Given the description of an element on the screen output the (x, y) to click on. 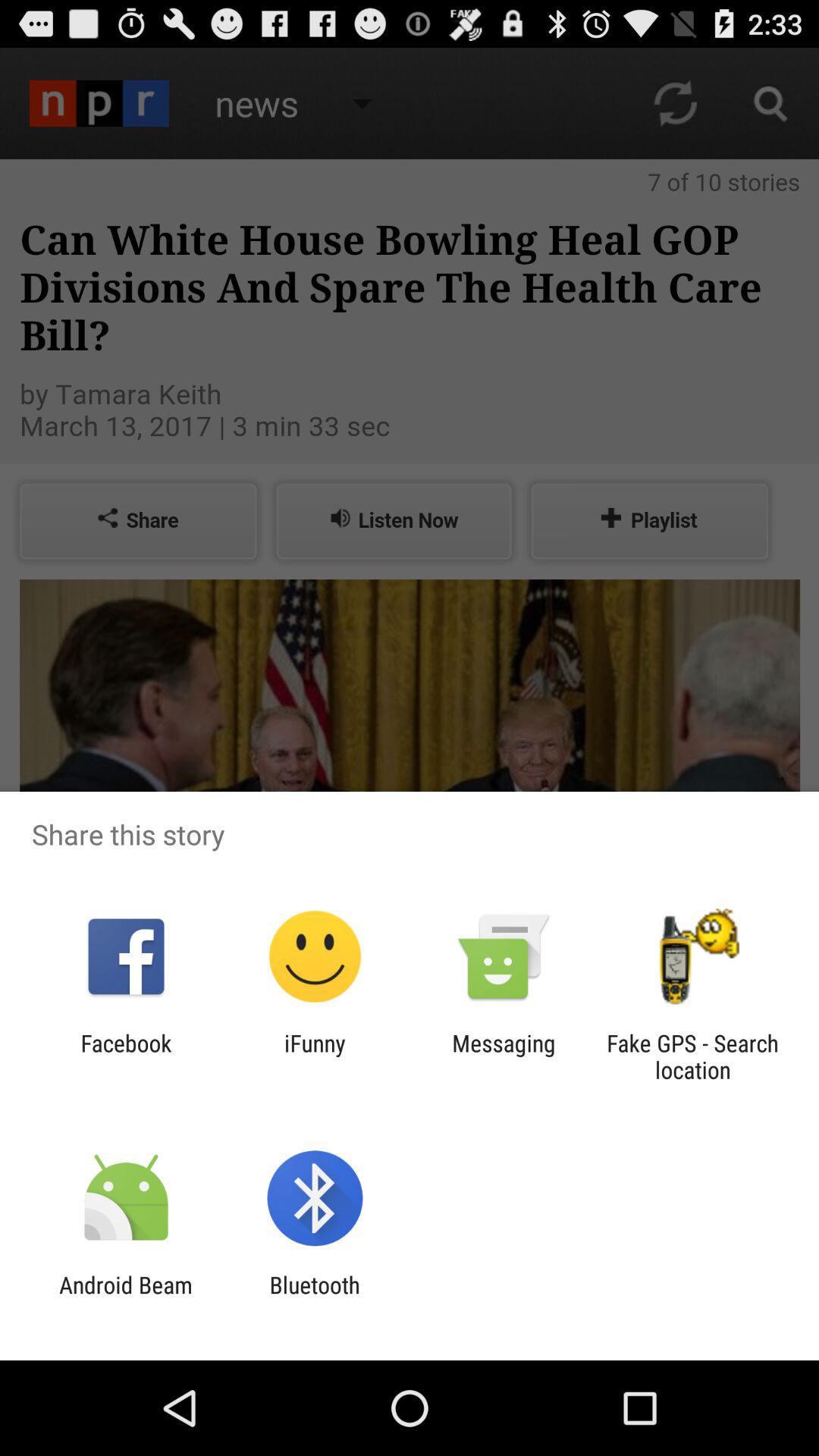
turn on android beam app (125, 1298)
